Given the description of an element on the screen output the (x, y) to click on. 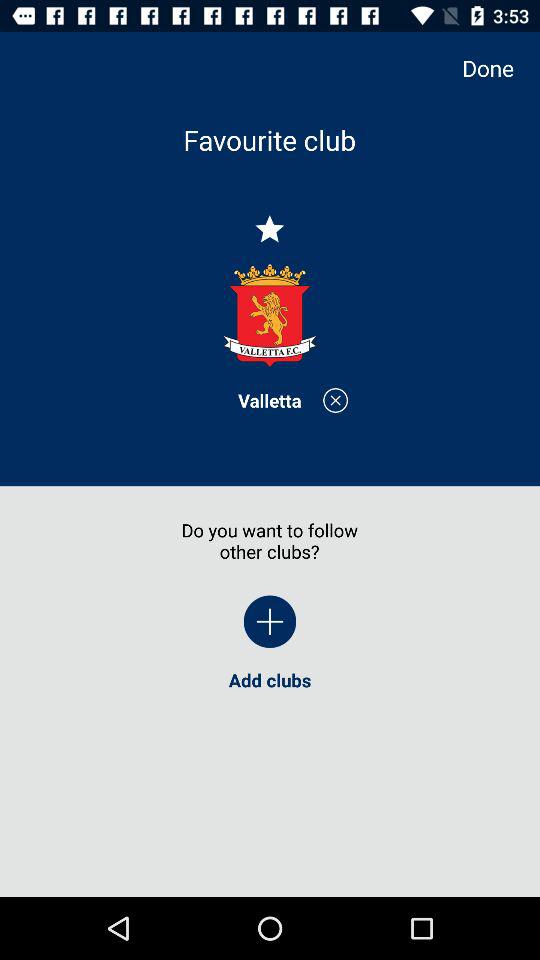
scroll to the done app (497, 68)
